Given the description of an element on the screen output the (x, y) to click on. 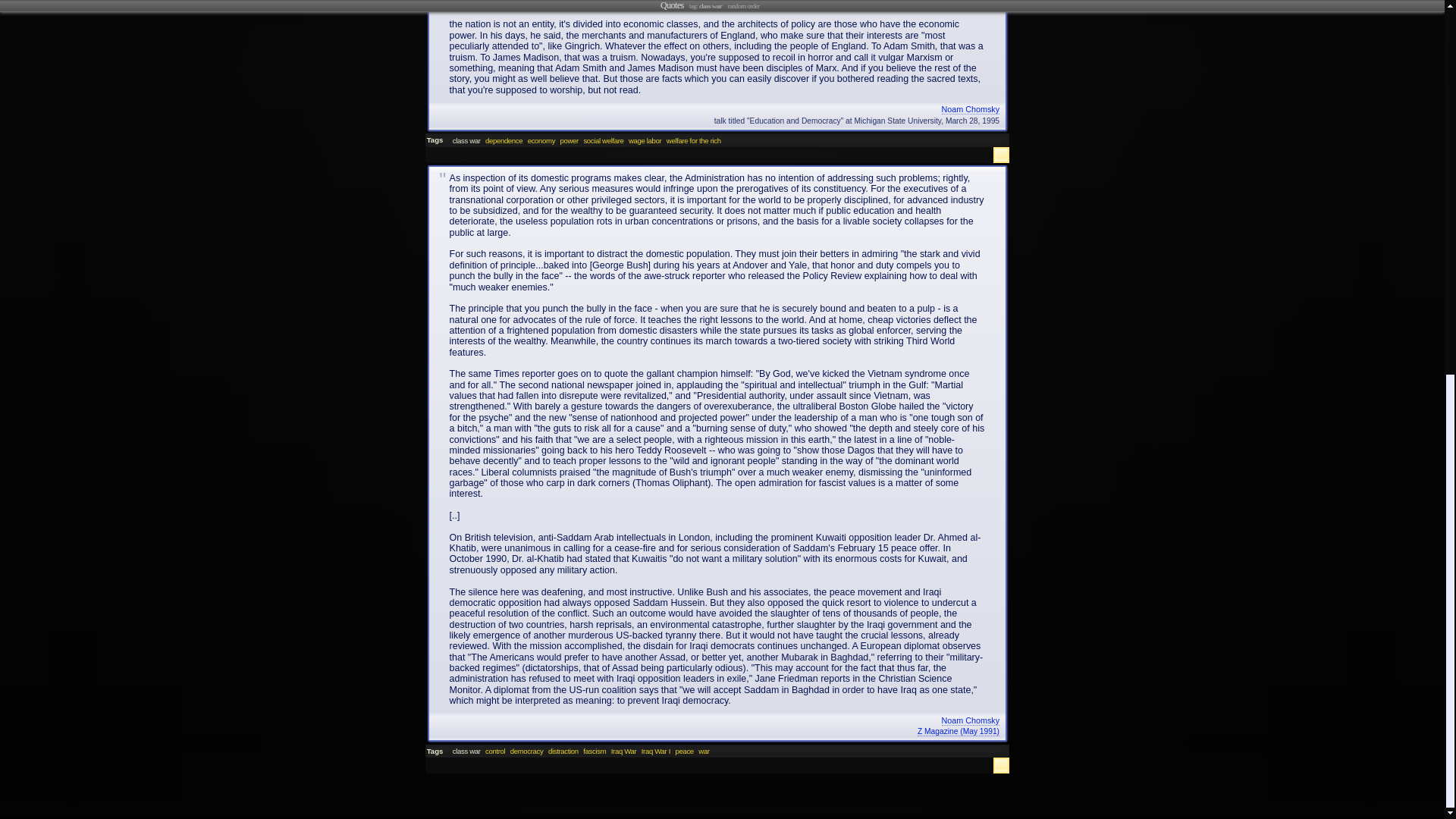
Source (716, 731)
Source (716, 121)
Author (716, 109)
Author (716, 720)
